Given the description of an element on the screen output the (x, y) to click on. 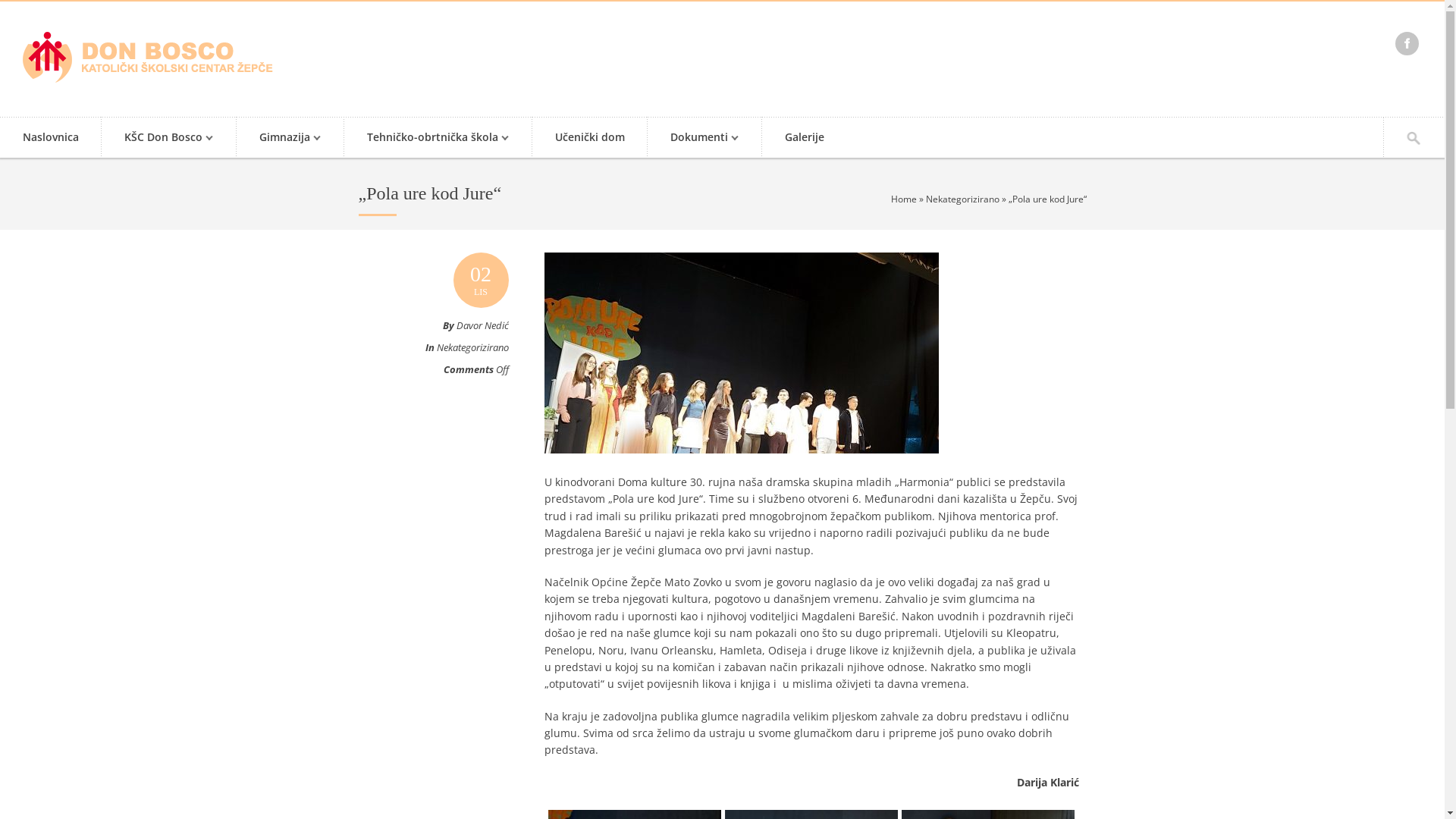
Home Element type: text (903, 198)
Galerije Element type: text (804, 138)
Naslovnica Element type: text (50, 138)
Nekategorizirano Element type: text (961, 198)
Nekategorizirano Element type: text (472, 347)
